Given the description of an element on the screen output the (x, y) to click on. 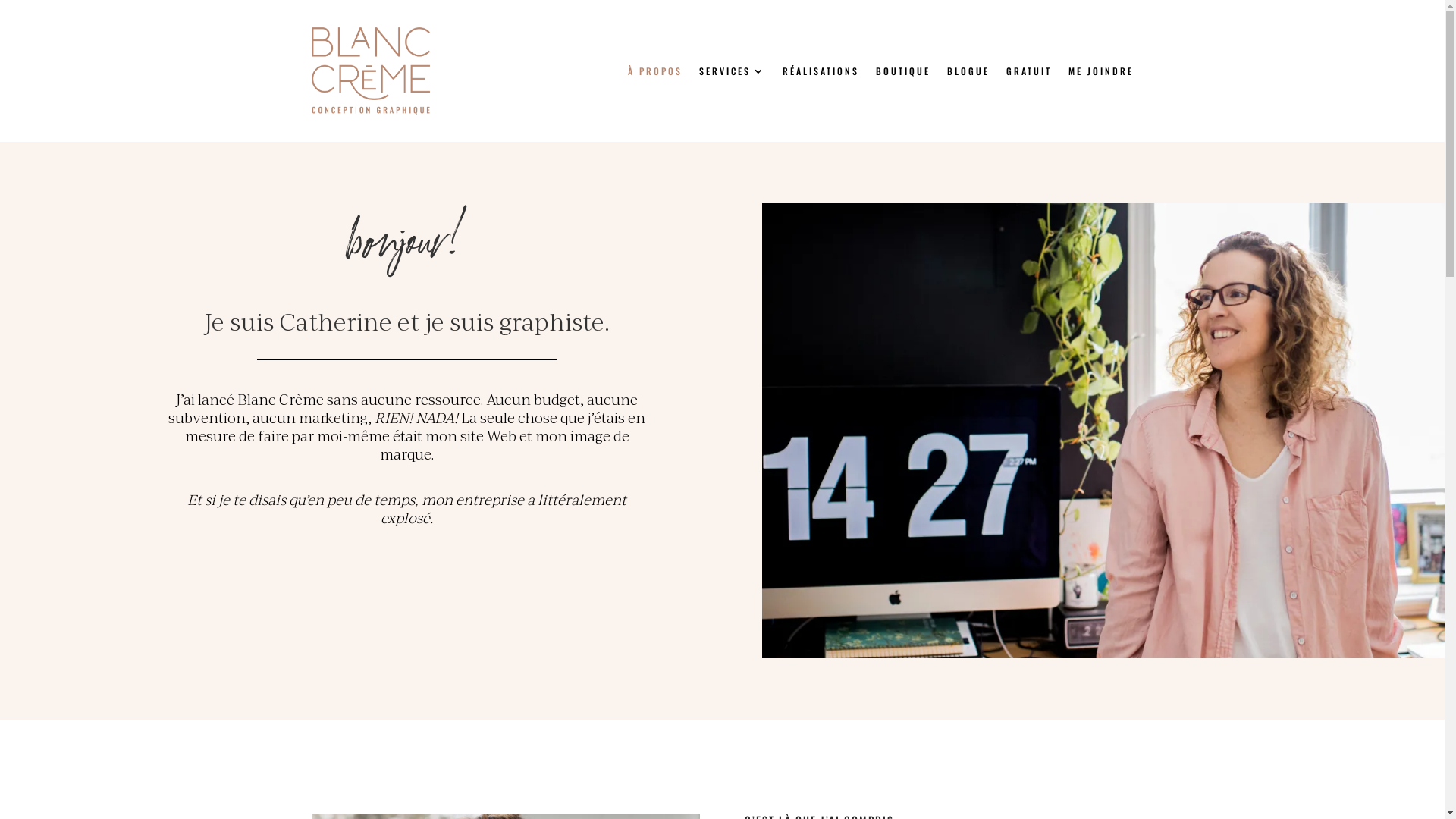
BOUTIQUE Element type: text (902, 70)
SERVICES Element type: text (732, 70)
1K4A6137 Element type: hover (1103, 430)
ME JOINDRE Element type: text (1099, 70)
BLOGUE Element type: text (967, 70)
GRATUIT Element type: text (1028, 70)
